Given the description of an element on the screen output the (x, y) to click on. 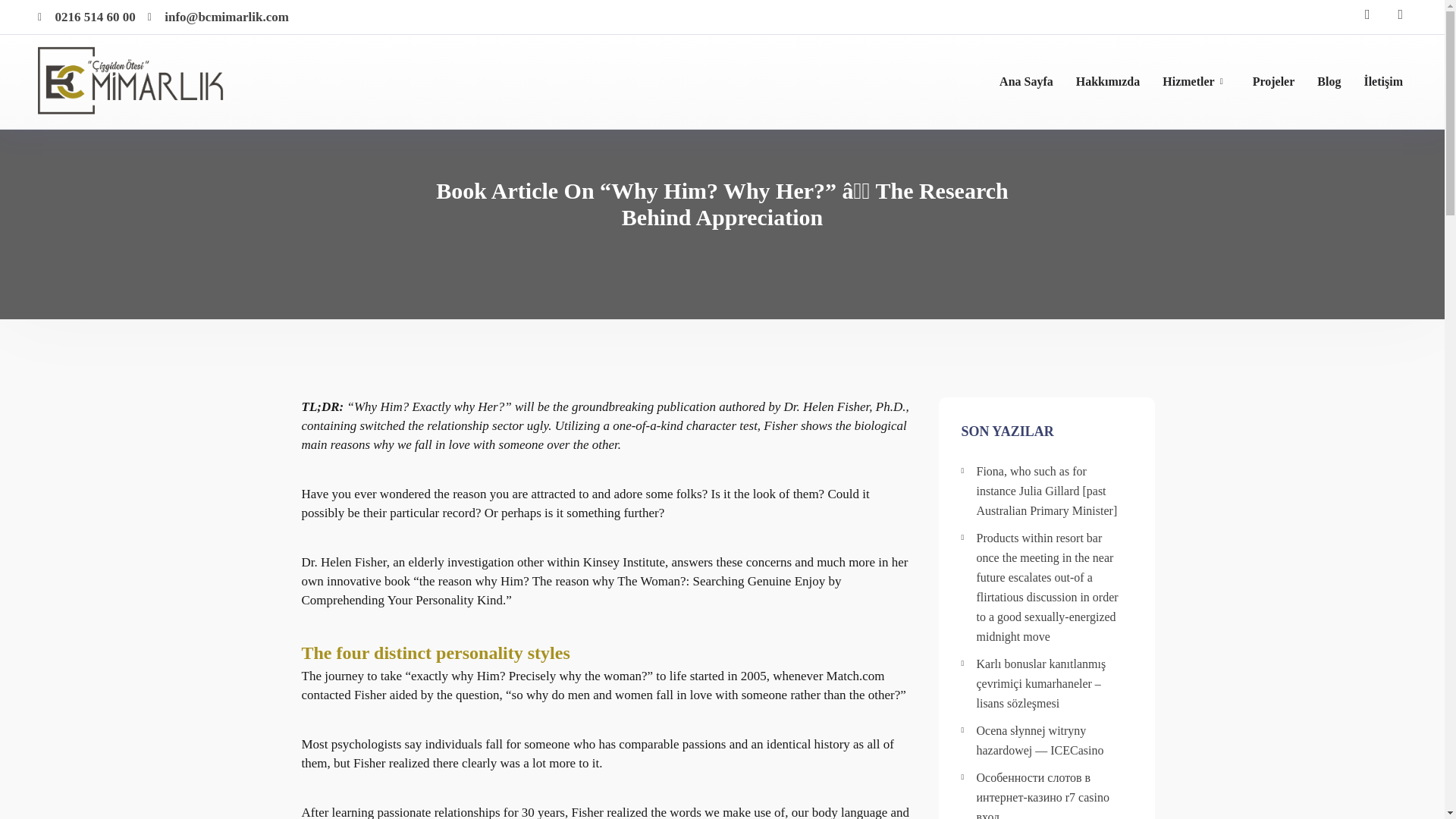
Ana Sayfa (1025, 81)
Hizmetler (1187, 81)
0216 514 60 00 (86, 16)
Blog (1328, 81)
Projeler (1273, 81)
